Given the description of an element on the screen output the (x, y) to click on. 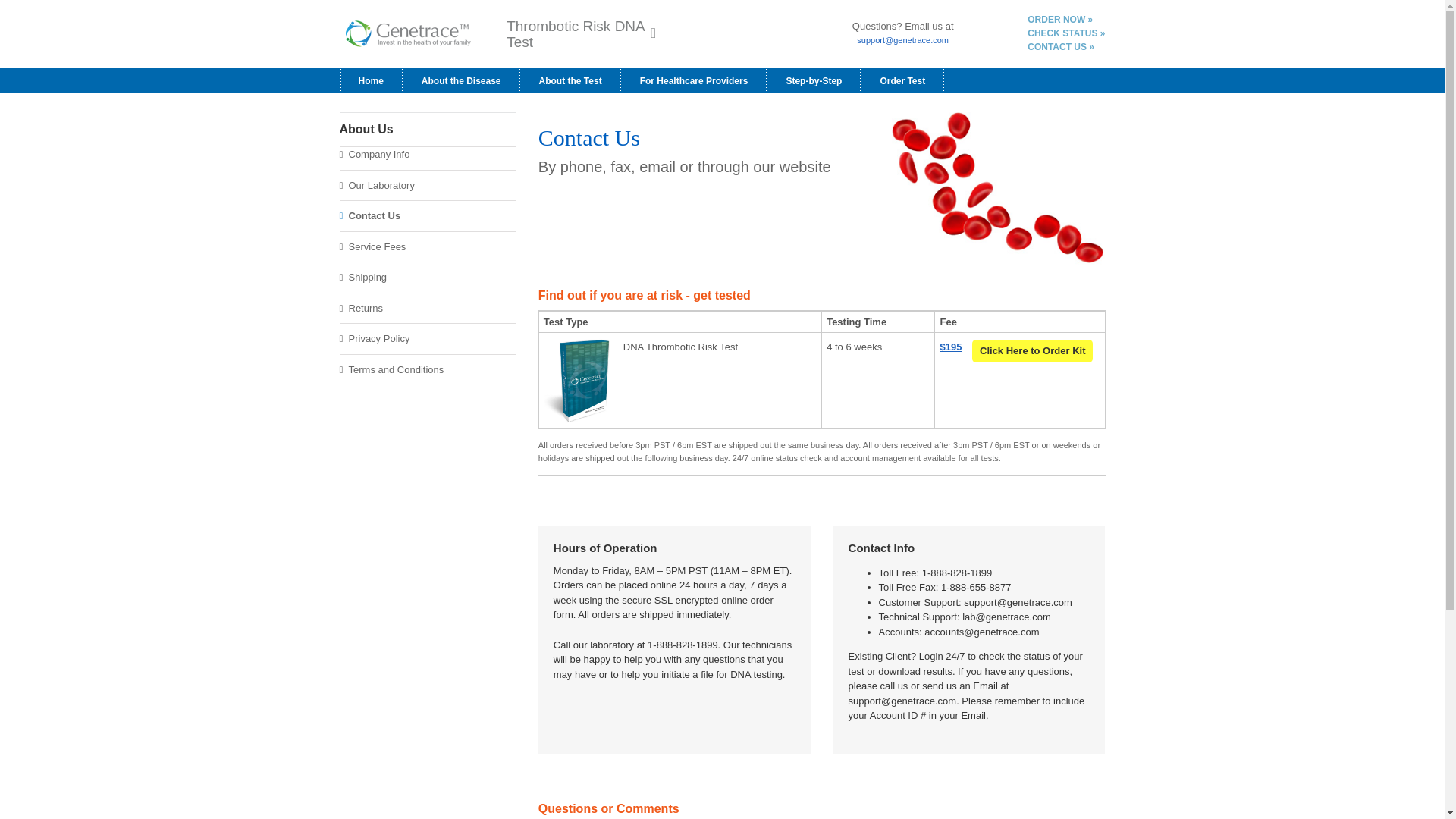
CONTACT US (1060, 47)
Order Test (901, 80)
Home (371, 80)
Thrombotic Risk DNA Test (581, 34)
thrombosis-testing (998, 191)
CHECK STATUS (821, 207)
ORDER NOW (1066, 33)
About the Disease (1060, 19)
For Healthcare Providers (461, 80)
